Given the description of an element on the screen output the (x, y) to click on. 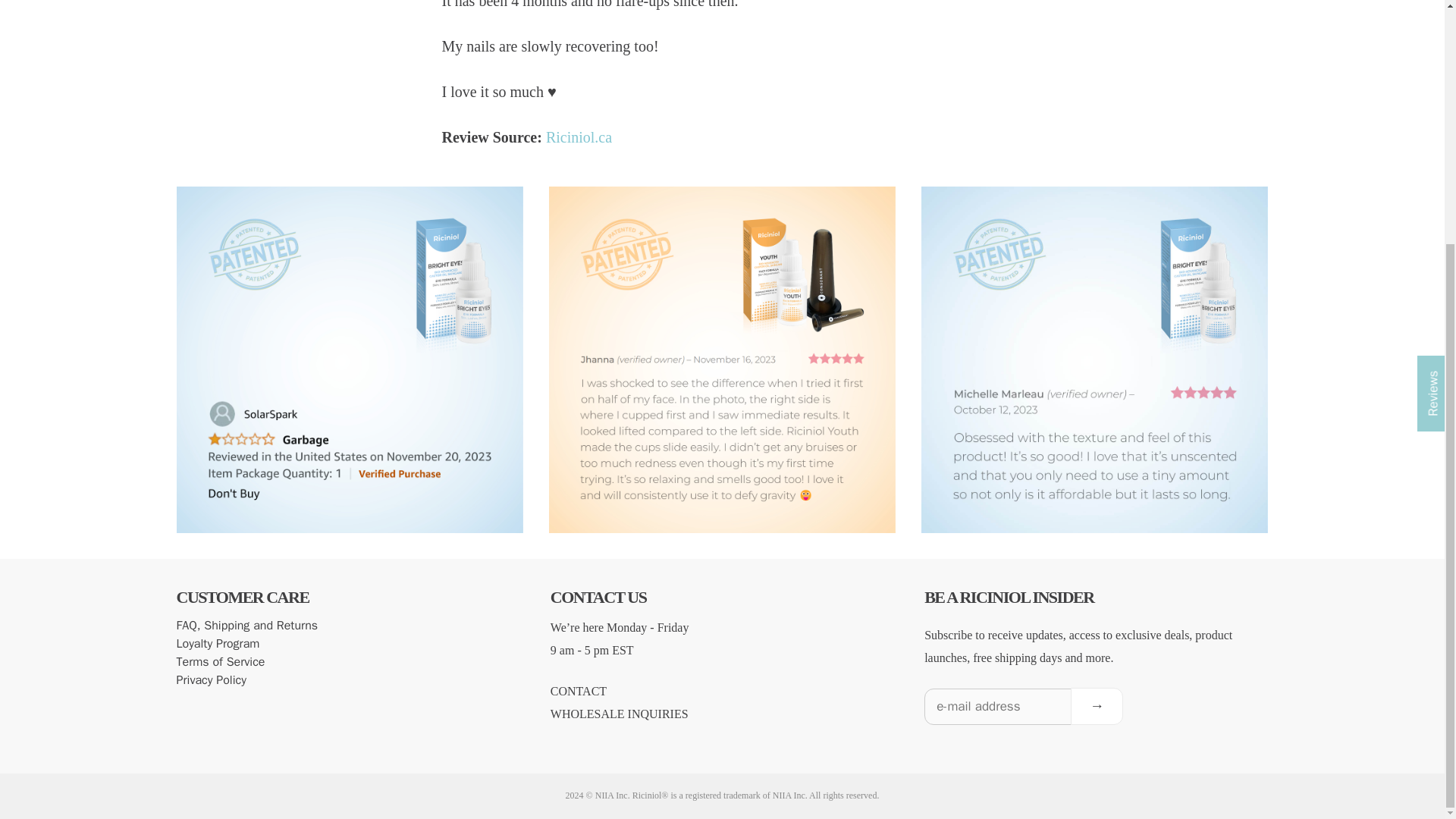
Loyalty Program (217, 643)
Obsessed with the texture and feel of this product! (1094, 523)
FAQ, Shipping and Returns (246, 625)
CONTACT (578, 690)
Terms of Service (220, 661)
Riciniol.ca (578, 136)
WHOLESALE INQUIRIES (619, 713)
Privacy Policy (211, 679)
I was shocked to see the difference! (721, 523)
Garbage (349, 523)
